Given the description of an element on the screen output the (x, y) to click on. 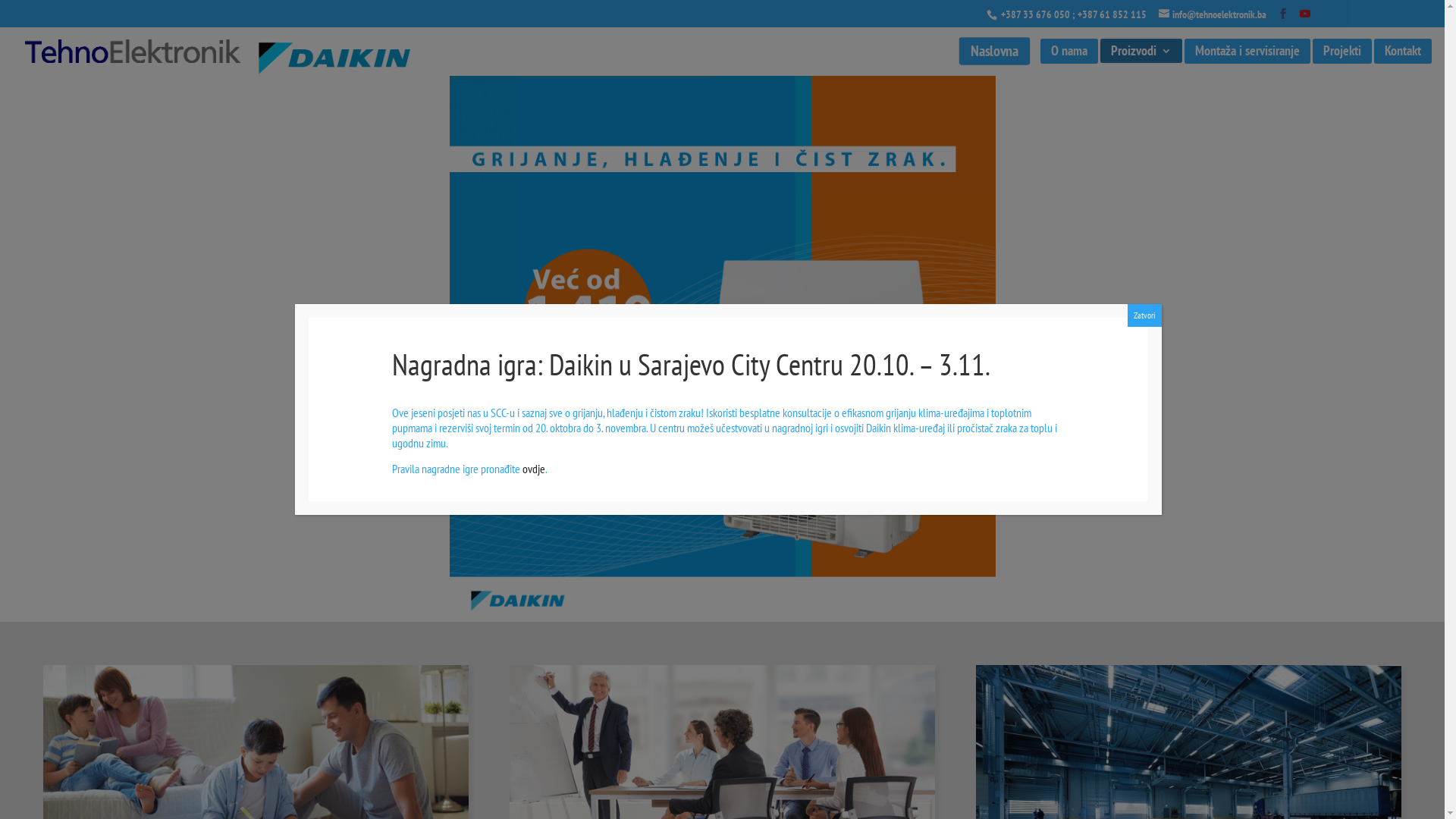
Kontakt Element type: text (1402, 56)
Projekti Element type: text (1342, 56)
+387 61 852 115 Element type: text (1111, 14)
+387 33 676 050 Element type: text (1034, 14)
O nama Element type: text (1069, 56)
Zatvori Element type: text (1143, 315)
Naslovna Element type: text (991, 55)
ovdje Element type: text (533, 468)
Proizvodi Element type: text (1140, 53)
info@tehnoelektronik.ba Element type: text (1212, 14)
